Given the description of an element on the screen output the (x, y) to click on. 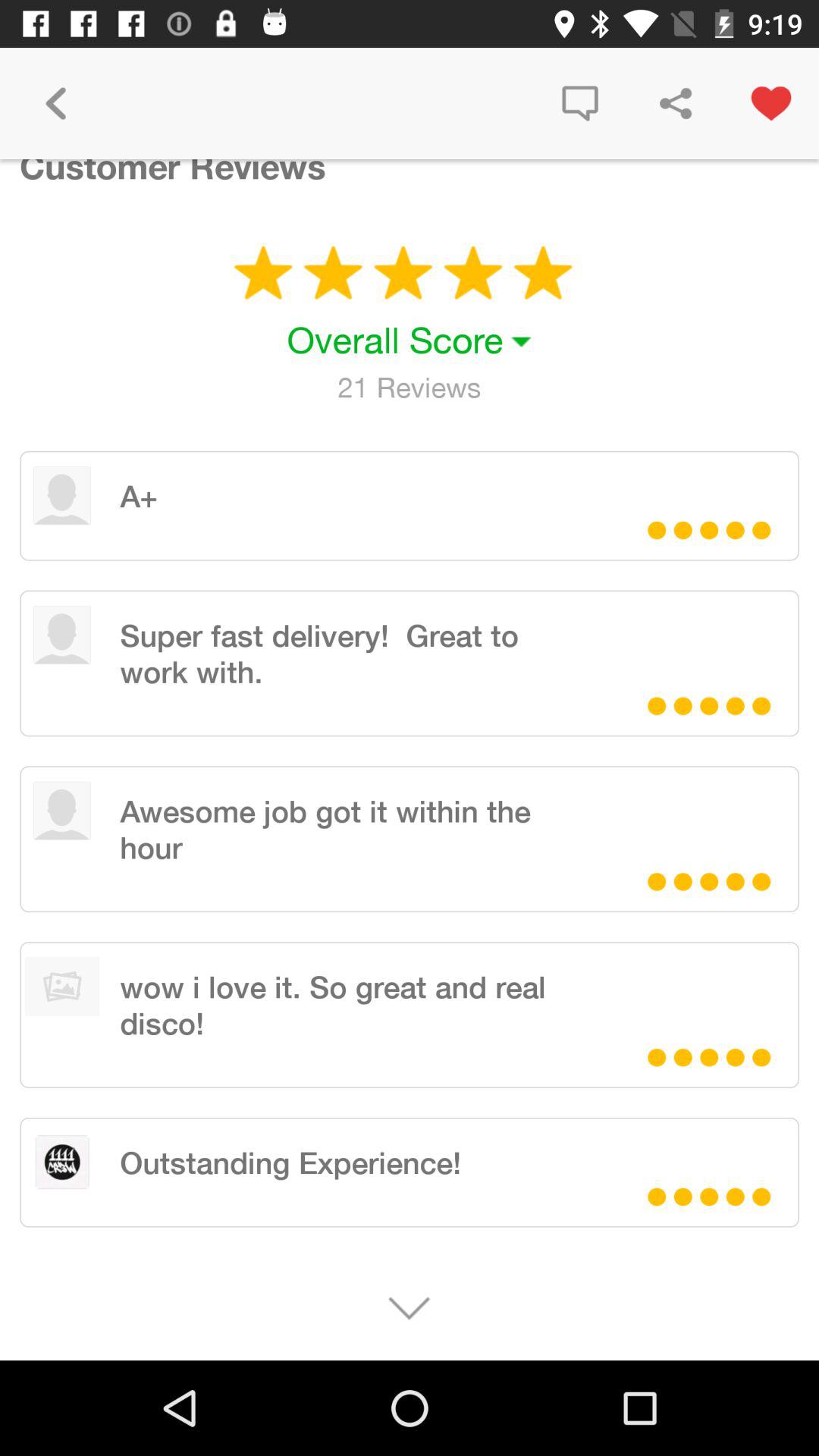
press the icon next to the customer reviews item (579, 103)
